Given the description of an element on the screen output the (x, y) to click on. 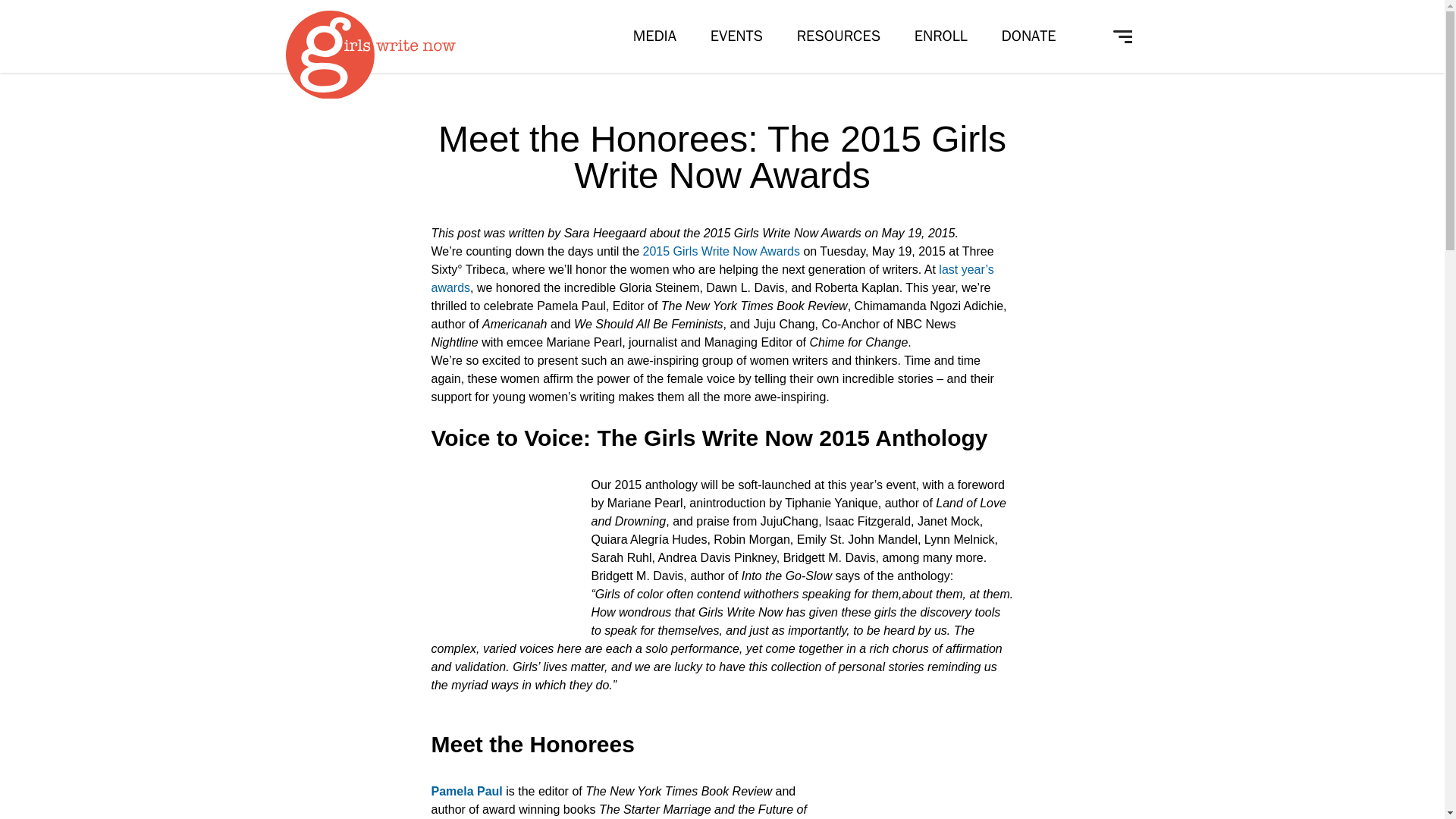
RESOURCES (838, 35)
ENROLL (941, 35)
DONATE (1029, 35)
MEDIA (655, 35)
EVENTS (736, 35)
